Given the description of an element on the screen output the (x, y) to click on. 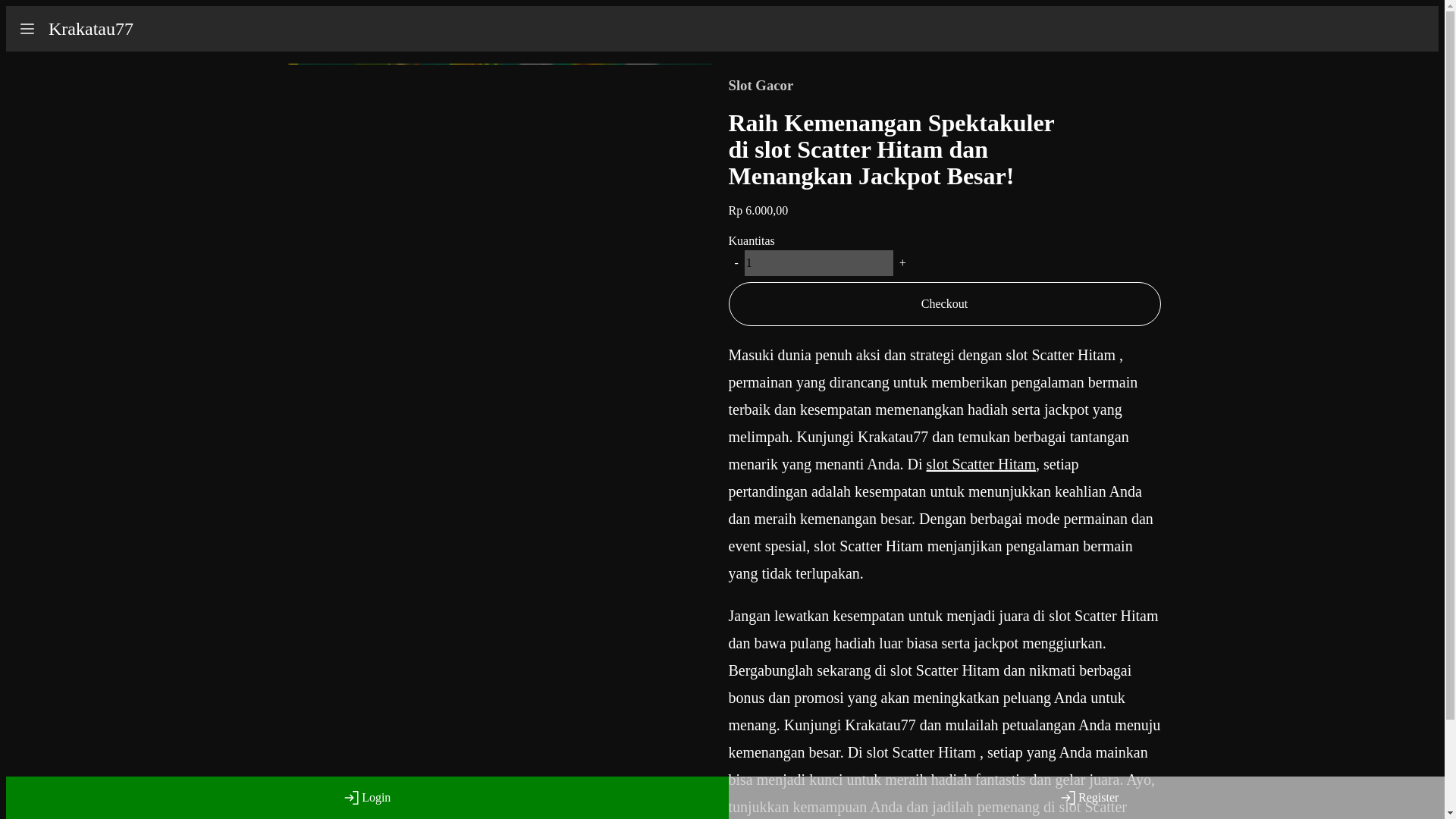
slot Scatter Hitam (980, 463)
Krakatau77 (90, 28)
1 (818, 263)
Login (367, 797)
Checkout (944, 303)
